Given the description of an element on the screen output the (x, y) to click on. 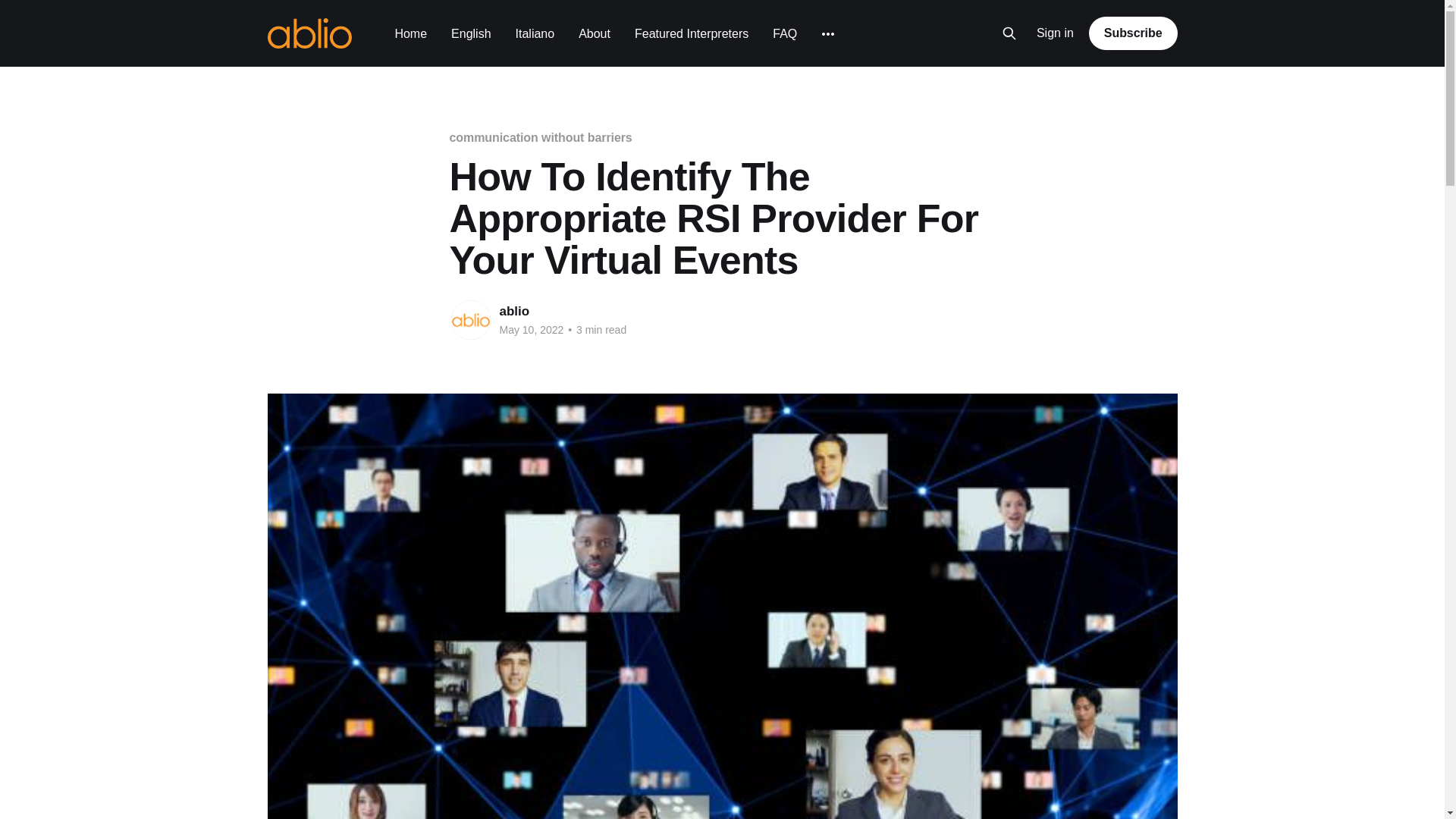
About (594, 33)
Featured Interpreters (691, 33)
Italiano (534, 33)
Subscribe (1133, 32)
Home (410, 33)
Sign in (1055, 33)
communication without barriers (539, 137)
FAQ (784, 33)
English (470, 33)
ablio (514, 310)
